Given the description of an element on the screen output the (x, y) to click on. 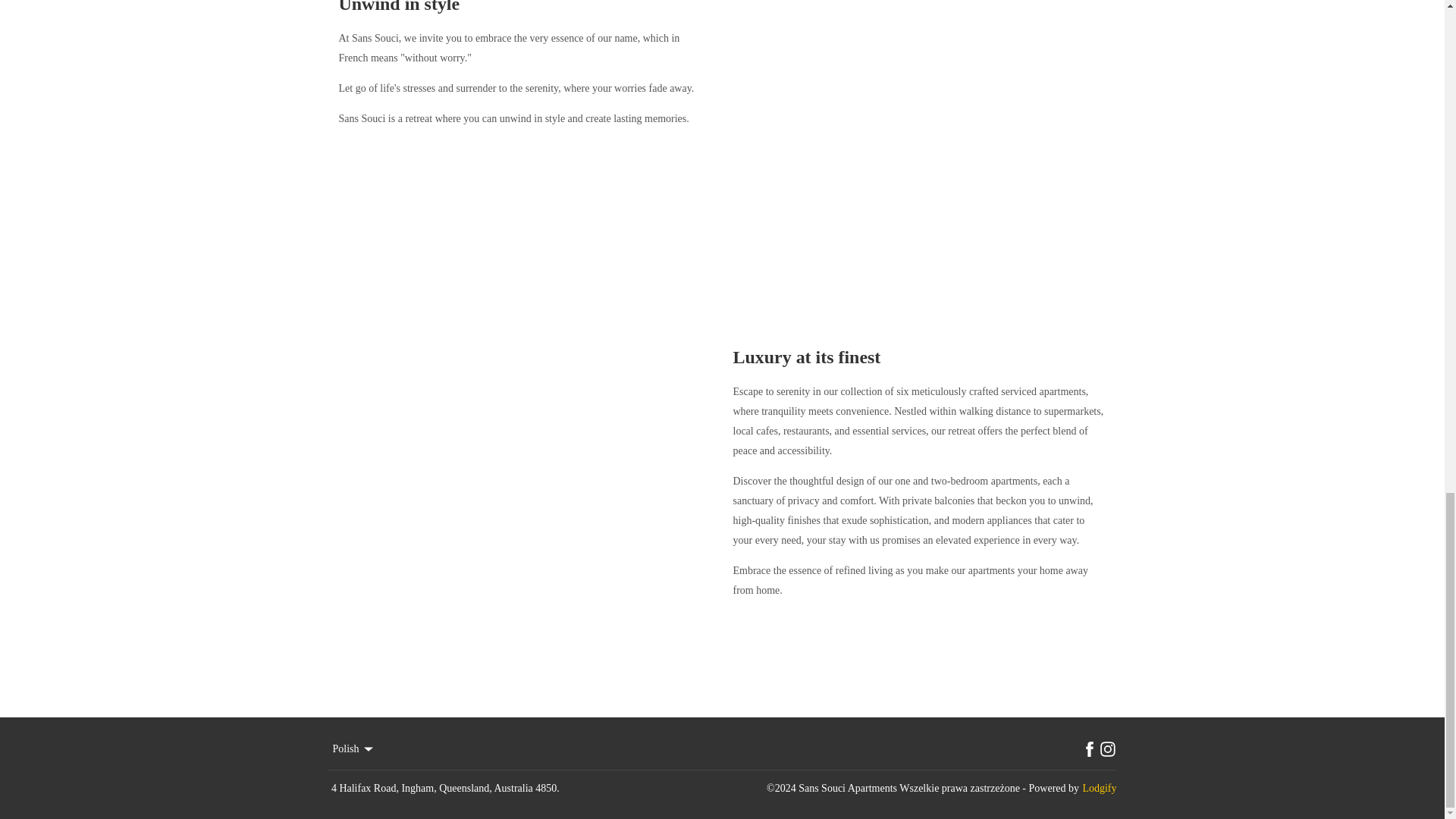
Facebook (1088, 749)
Polish (353, 749)
Facebook (1088, 749)
Instagram (1106, 749)
Instagram (1106, 749)
Lodgify (1098, 788)
